Given the description of an element on the screen output the (x, y) to click on. 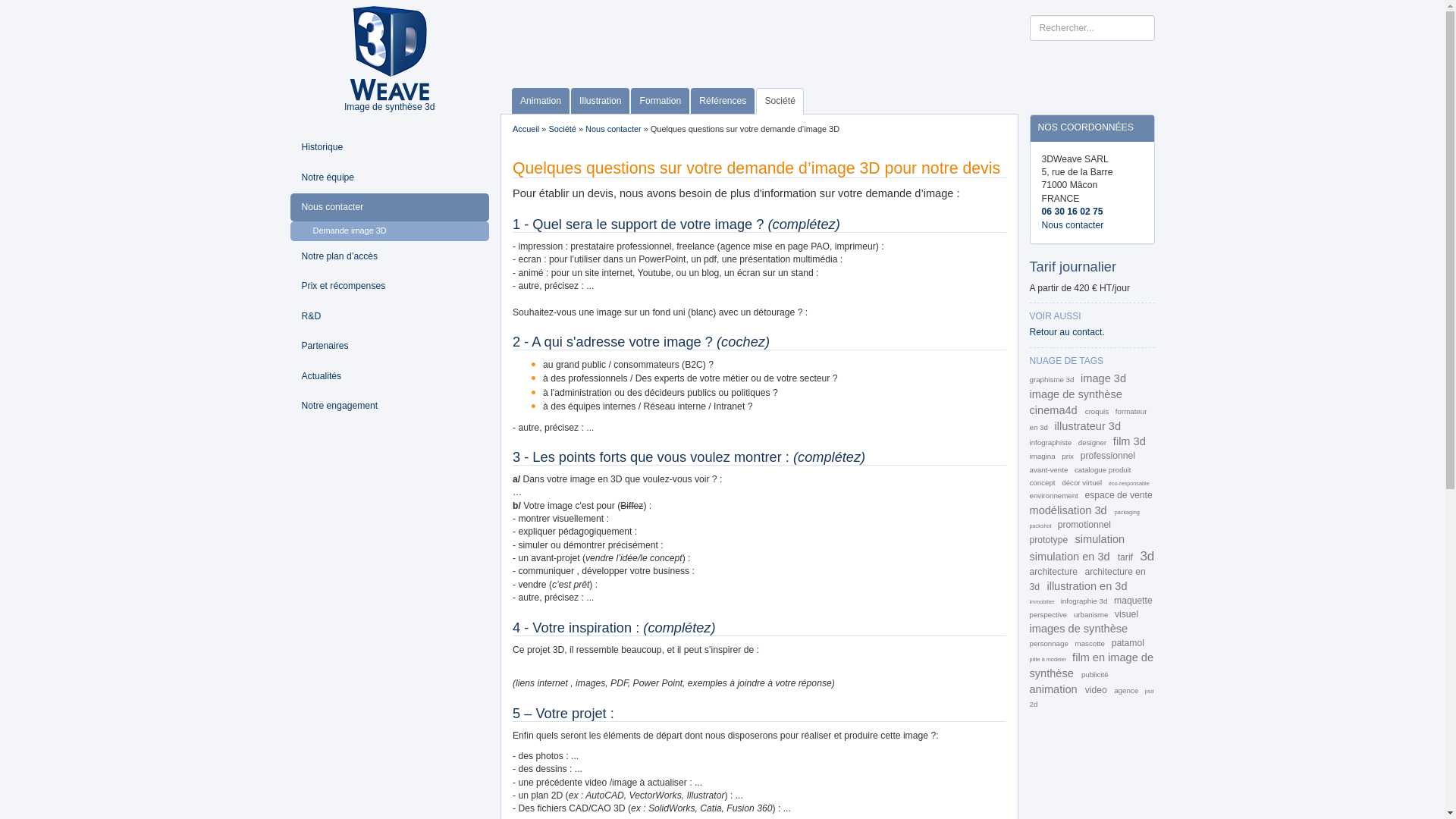
Retour au contact Element type: text (1065, 331)
imagina Element type: text (1043, 455)
Partenaires Element type: text (389, 346)
architecture Element type: text (1054, 571)
3d Weave Element type: hover (389, 51)
perspective Element type: text (1049, 614)
promotionnel Element type: text (1083, 524)
designer Element type: text (1093, 442)
maquette Element type: text (1132, 600)
simulation Element type: text (1100, 539)
graphisme 3d Element type: text (1052, 379)
Nous contacter Element type: text (1072, 224)
infographiste Element type: text (1051, 442)
3d Element type: text (1146, 556)
06 30 16 02 75 Element type: text (1072, 211)
espace de vente Element type: text (1117, 494)
croquis Element type: text (1097, 411)
2d Element type: text (1033, 703)
film 3d Element type: text (1129, 441)
urbanisme Element type: text (1091, 614)
psd Element type: text (1149, 690)
catalogue produit Element type: text (1102, 469)
Nous contacter Element type: text (613, 128)
Animation Element type: text (540, 100)
Demande image 3D Element type: text (389, 231)
immobilier Element type: text (1042, 601)
simulation en 3d Element type: text (1071, 556)
avant-vente Element type: text (1049, 469)
agence Element type: text (1126, 690)
Notre engagement Element type: text (389, 406)
concept Element type: text (1043, 482)
mascotte Element type: text (1091, 643)
prototype Element type: text (1049, 539)
personnage Element type: text (1049, 643)
packshot Element type: text (1041, 525)
visuel Element type: text (1126, 613)
architecture en 3d Element type: text (1087, 579)
Historique Element type: text (389, 147)
illustrateur 3d Element type: text (1087, 426)
R&D Element type: text (389, 316)
cinema4d Element type: text (1054, 410)
Formation Element type: text (659, 100)
video Element type: text (1097, 689)
environnement Element type: text (1054, 495)
Nous contacter Element type: text (389, 207)
Illustration Element type: text (600, 100)
animation Element type: text (1054, 689)
Accueil Element type: text (525, 128)
image 3d Element type: text (1103, 378)
prix Element type: text (1068, 455)
infographie 3d Element type: text (1084, 600)
formateur en 3d Element type: text (1088, 419)
illustration en 3d Element type: text (1086, 586)
patamol Element type: text (1127, 642)
professionnel Element type: text (1107, 455)
packaging Element type: text (1126, 511)
tarif Element type: text (1126, 557)
